Given the description of an element on the screen output the (x, y) to click on. 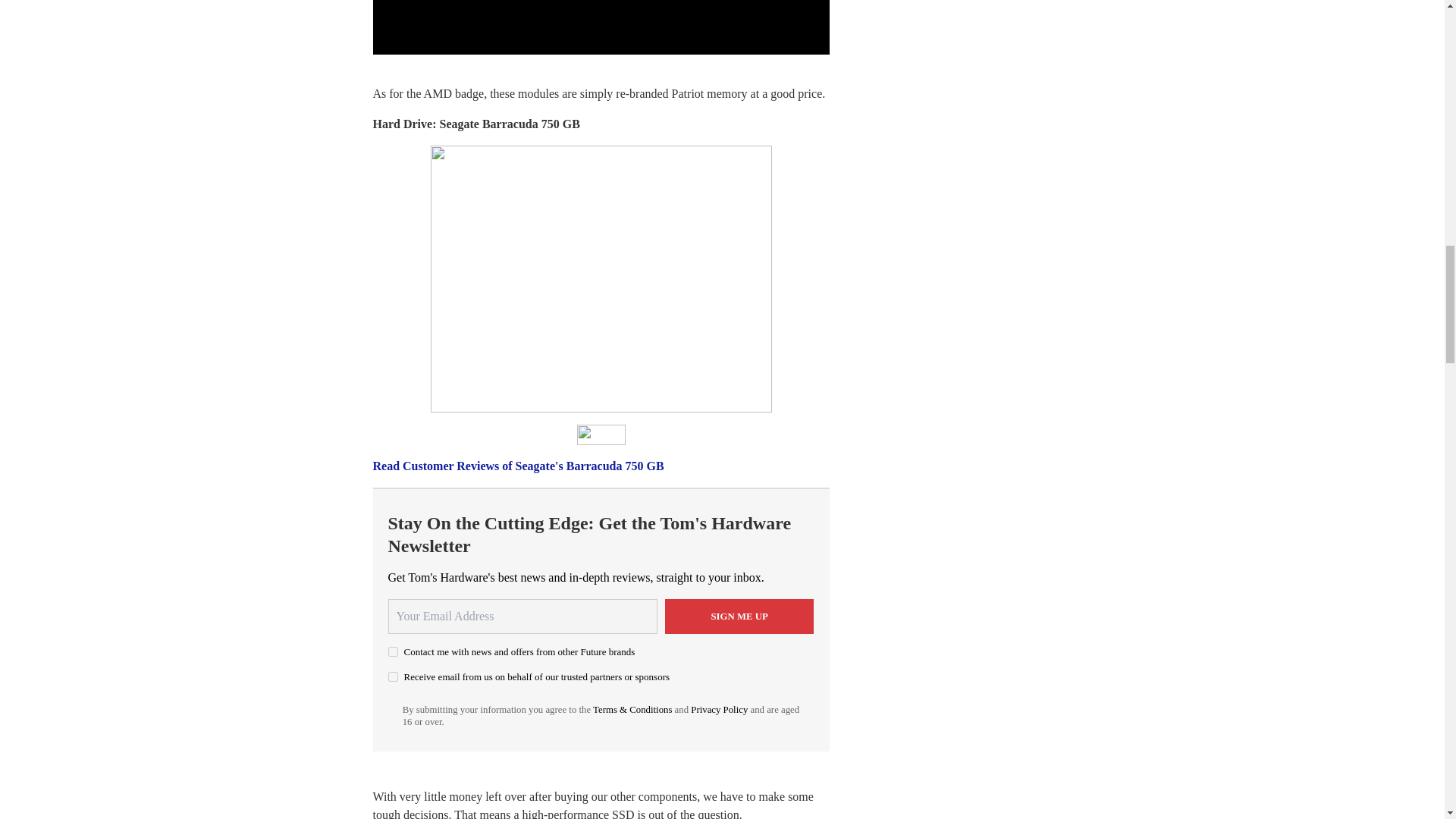
on (392, 651)
Sign me up (739, 615)
on (392, 676)
